Given the description of an element on the screen output the (x, y) to click on. 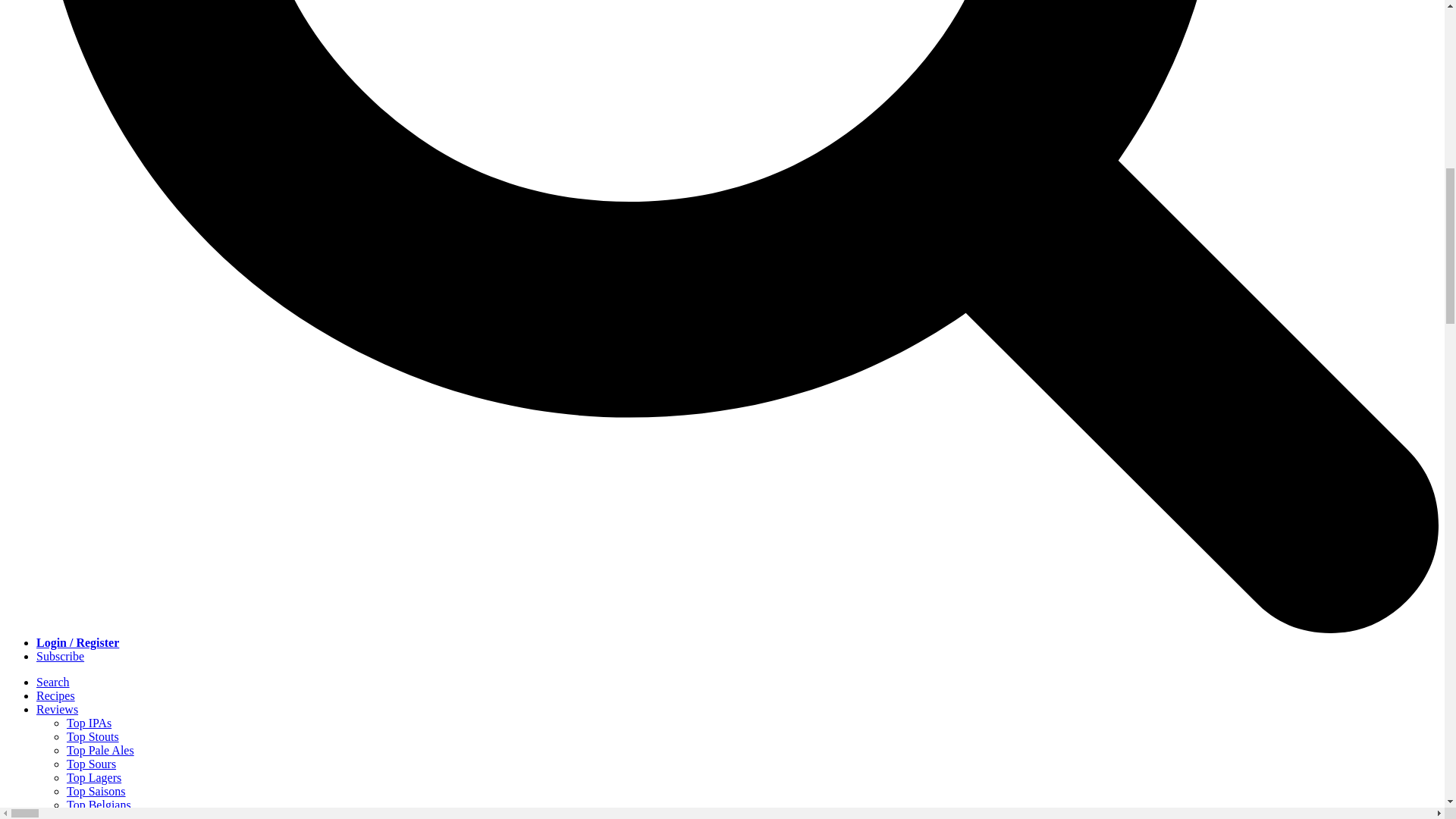
Top Sours (91, 763)
Recipes (55, 695)
Subscribe (60, 656)
Reviews (57, 708)
Top Belgians (98, 804)
Top Saisons (95, 790)
Top Stouts (92, 736)
Search All Reviews (113, 815)
Top IPAs (89, 722)
Top Pale Ales (99, 749)
